Given the description of an element on the screen output the (x, y) to click on. 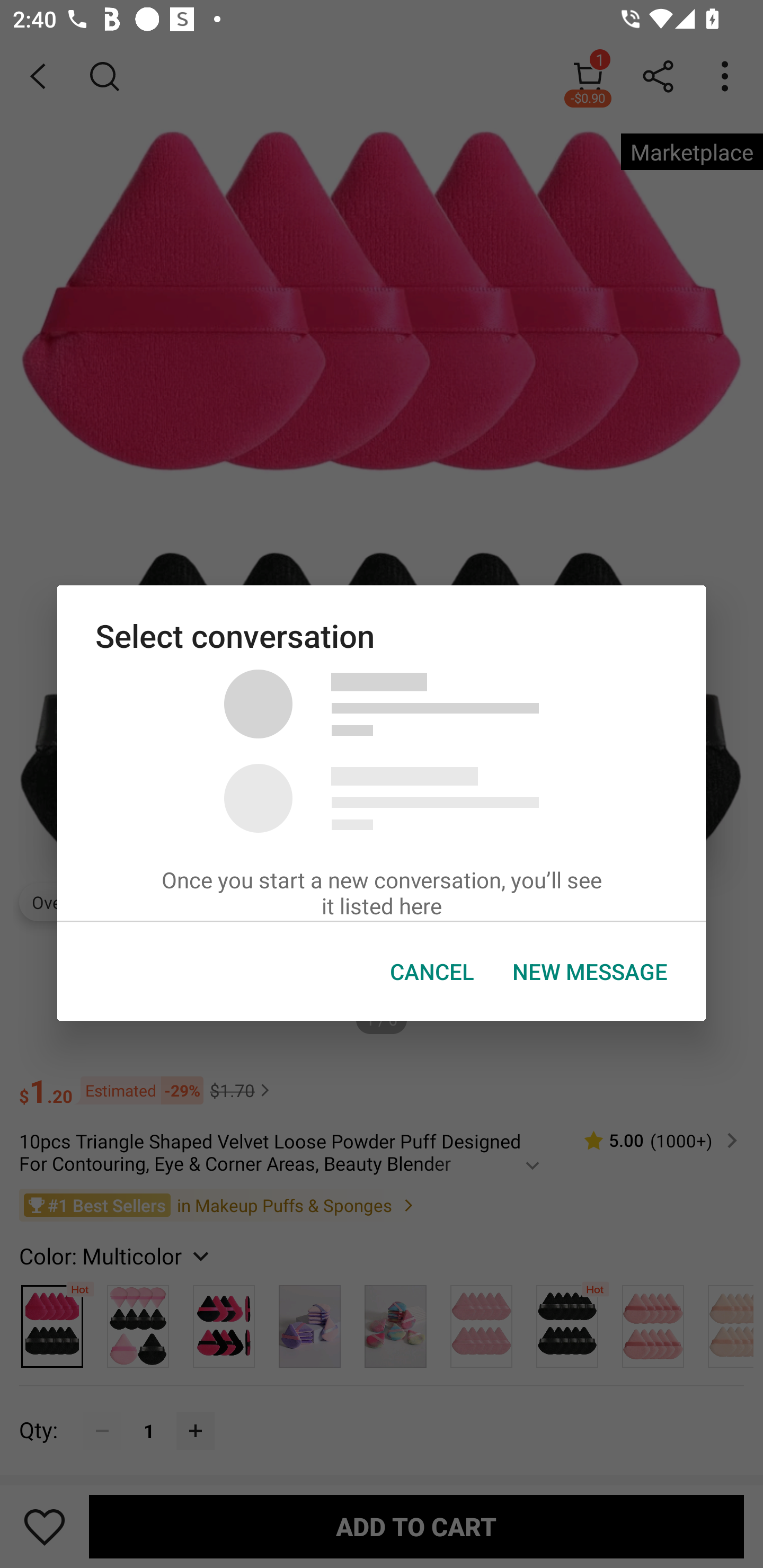
CANCEL (431, 971)
NEW MESSAGE (589, 971)
